Given the description of an element on the screen output the (x, y) to click on. 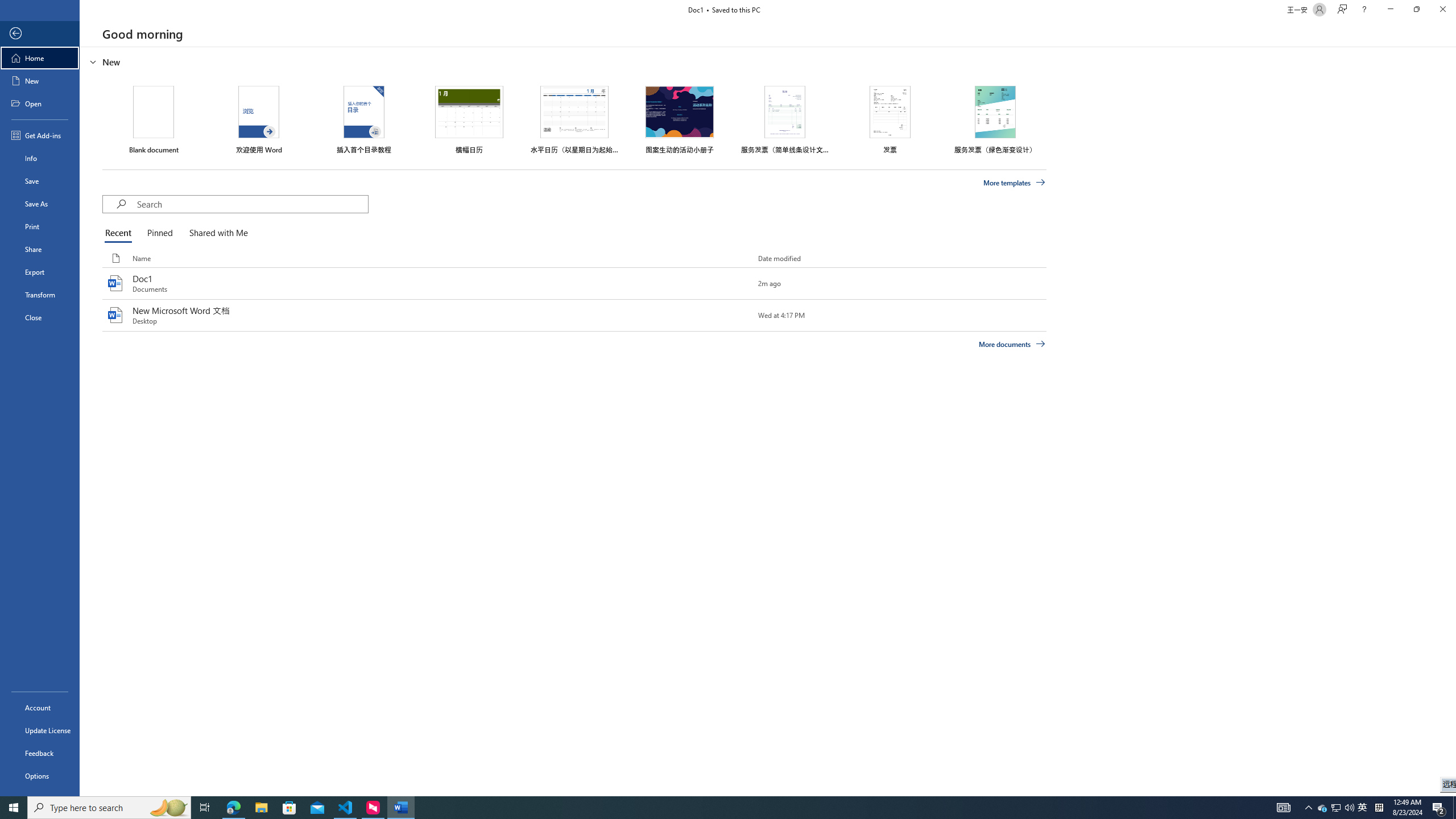
Get Add-ins (40, 134)
Back (40, 33)
Pinned (159, 233)
Update License (40, 730)
New (40, 80)
More documents (1011, 343)
Doc1 (573, 283)
Options (40, 775)
